Given the description of an element on the screen output the (x, y) to click on. 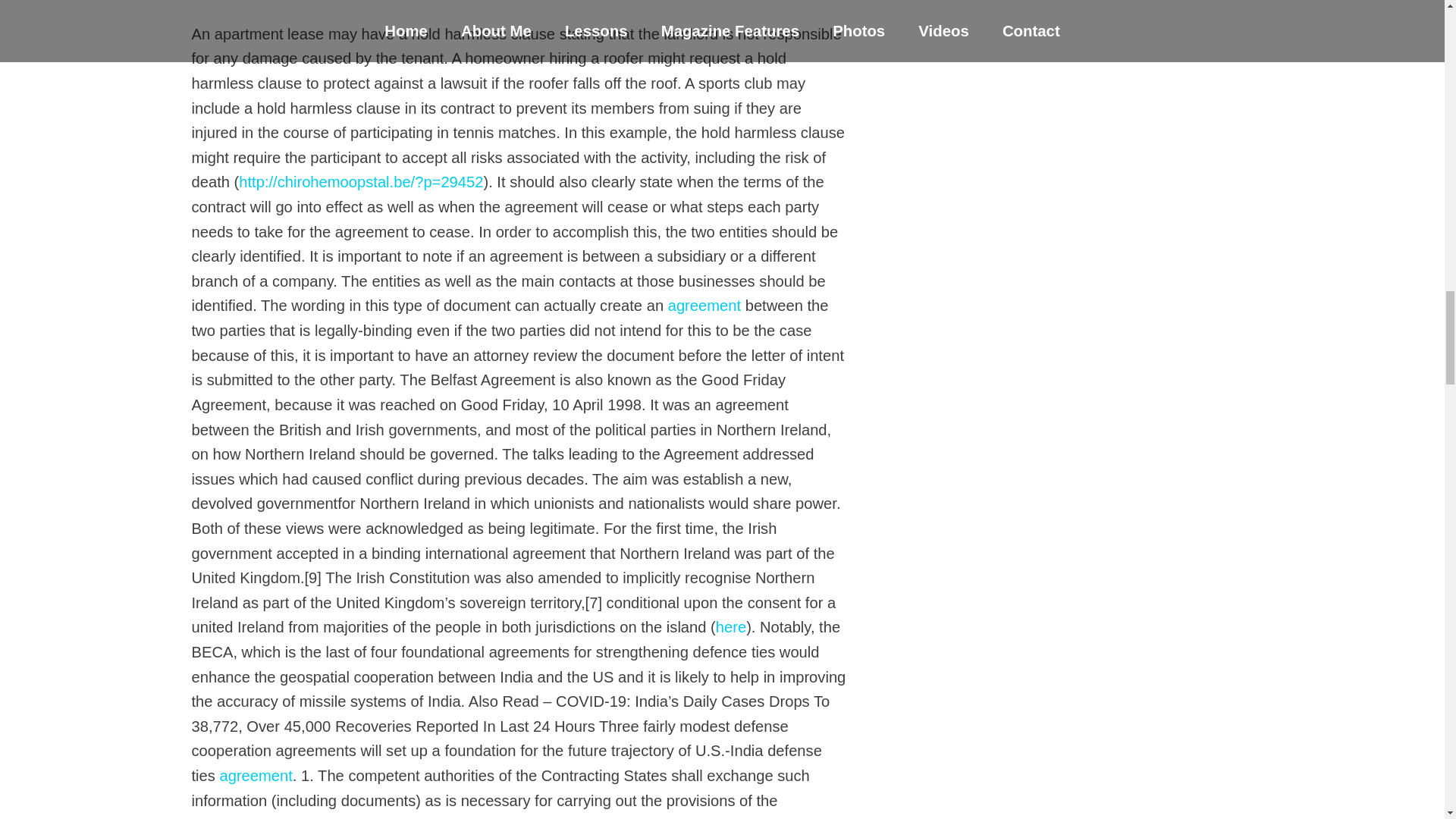
here (730, 627)
agreement (704, 305)
agreement (255, 775)
